Given the description of an element on the screen output the (x, y) to click on. 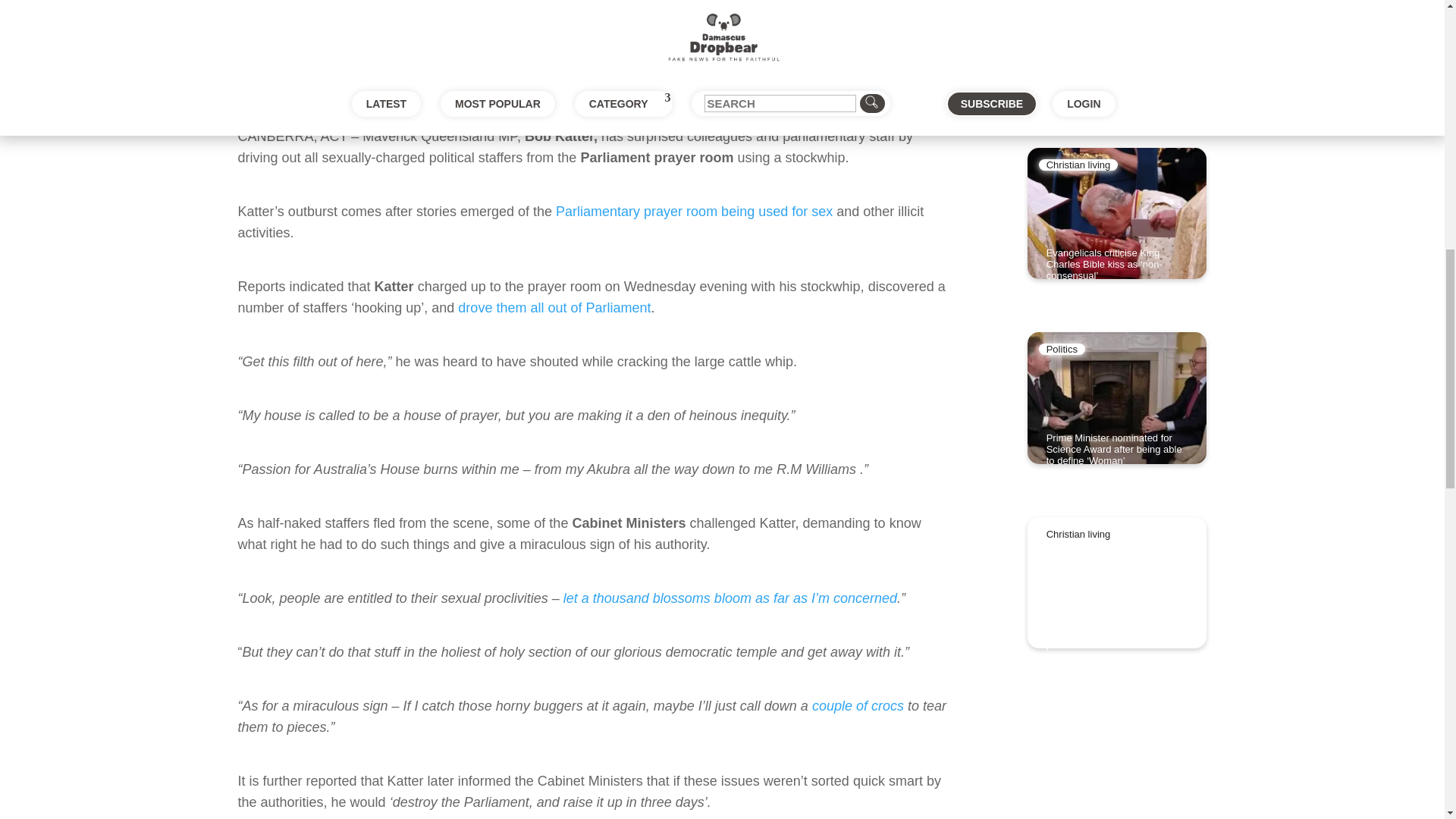
Parliamentary prayer room being used for sex (694, 211)
Facebook (269, 105)
Linkedin (395, 105)
Politics (379, 31)
D'bear (266, 31)
drove them all out of Parliament (554, 307)
Twitter (331, 105)
Parler (521, 105)
Email (582, 105)
Instagram (457, 105)
Posts by D'bear (266, 31)
